Given the description of an element on the screen output the (x, y) to click on. 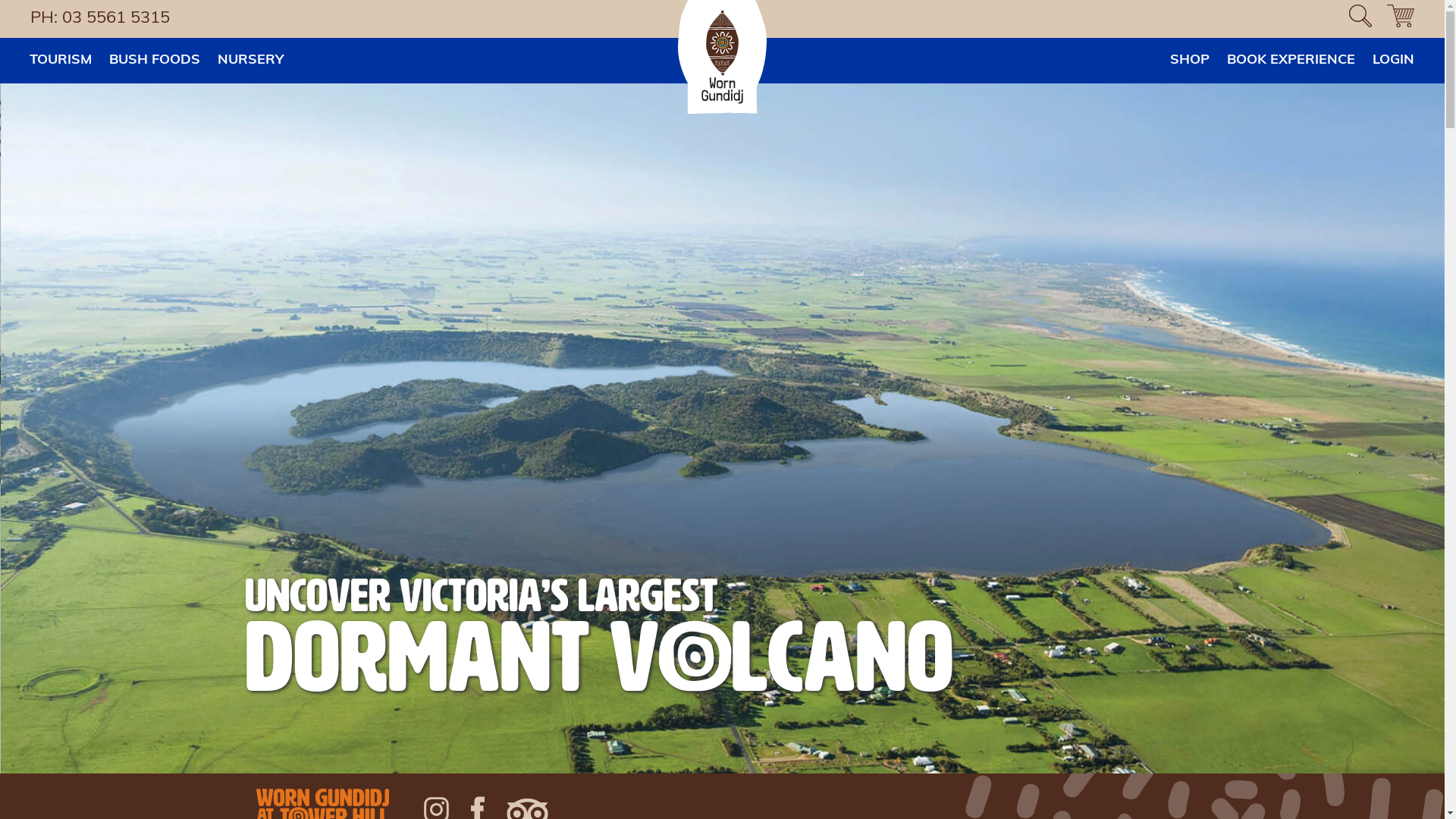
NURSERY Element type: text (250, 60)
BOOK EXPERIENCE Element type: text (1290, 60)
PH: 03 5561 5315 Element type: text (103, 18)
TOURISM Element type: text (60, 60)
Cart Element type: hover (1400, 18)
Search Element type: text (30, 20)
SHOP Element type: text (1189, 60)
LOGIN Element type: text (1393, 60)
BUSH FOODS Element type: text (154, 60)
